Given the description of an element on the screen output the (x, y) to click on. 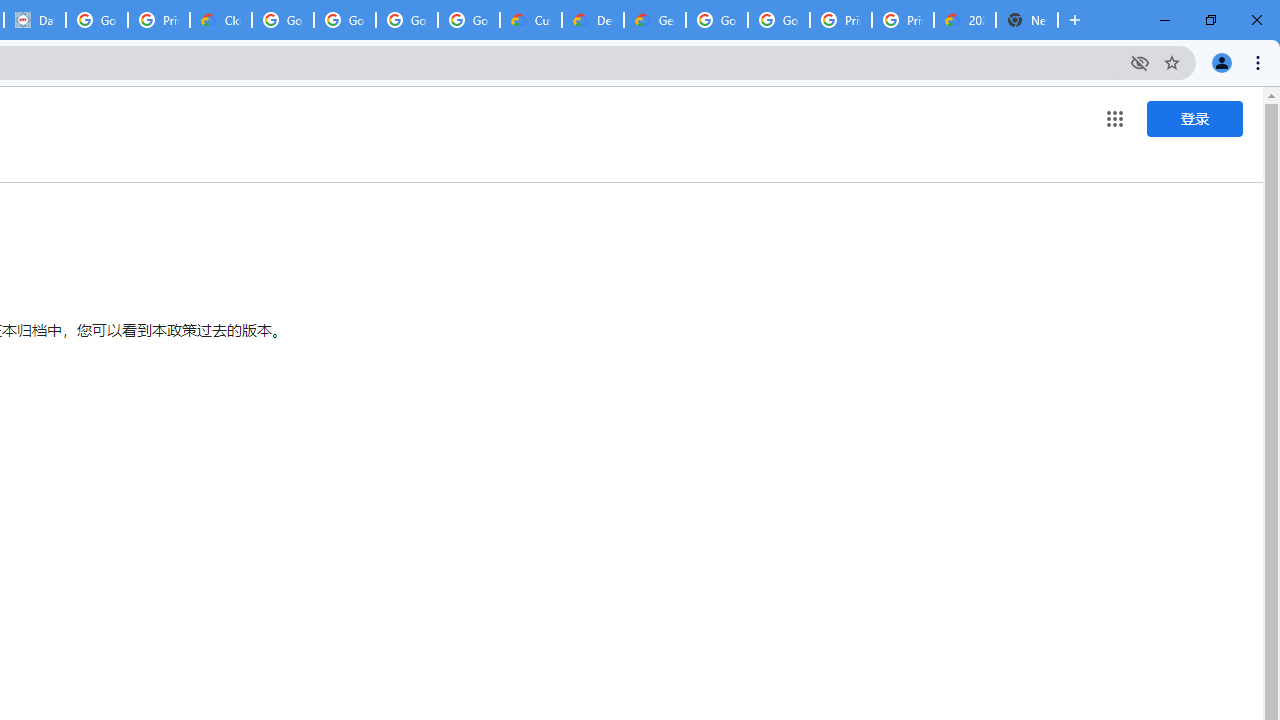
Google Cloud Platform (716, 20)
Cloud Data Processing Addendum | Google Cloud (220, 20)
Gemini for Business and Developers | Google Cloud (654, 20)
Google Workspace - Specific Terms (468, 20)
New Tab (1026, 20)
